Given the description of an element on the screen output the (x, y) to click on. 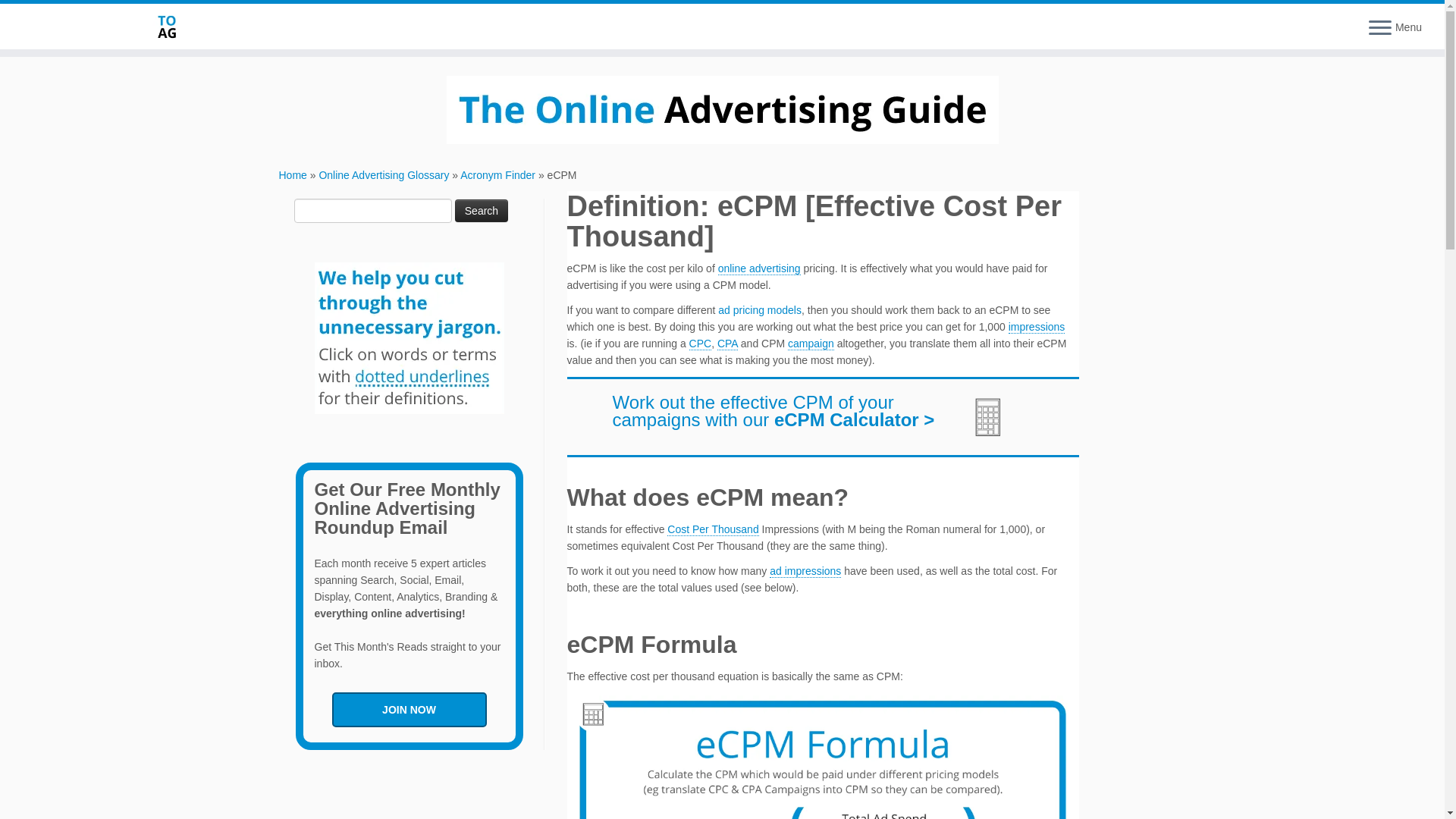
JOIN NOW (408, 709)
Online Advertising Glossary (383, 174)
Search (481, 210)
Home (293, 174)
Search (481, 210)
Online Advertising Glossary (383, 174)
Acronym Finder (497, 174)
Glossary: Online Advertising (758, 268)
ad impressions (805, 571)
Open the menu (1379, 28)
